Given the description of an element on the screen output the (x, y) to click on. 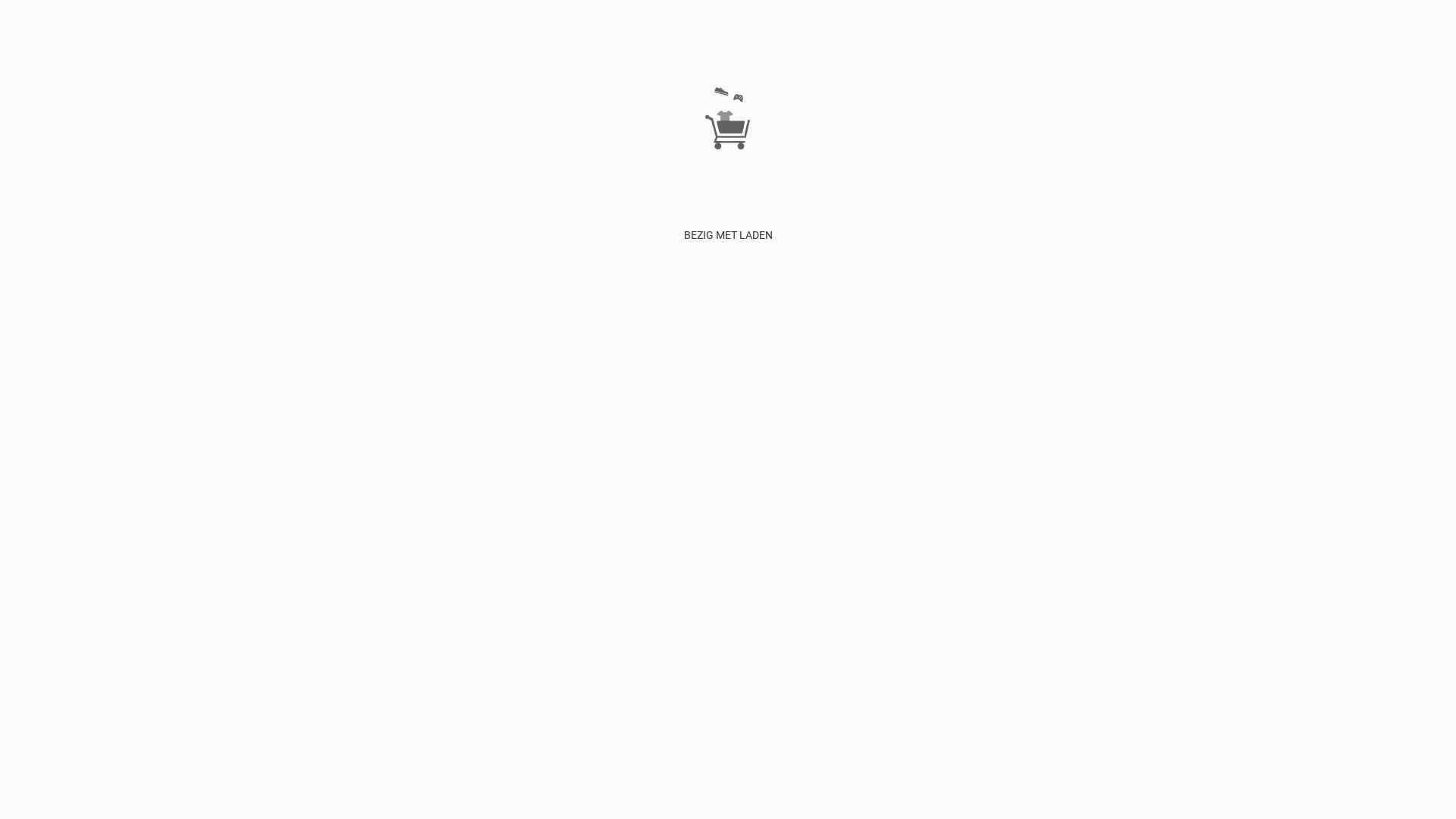
Jongens Element type: text (704, 42)
Dames Element type: text (598, 42)
Accessoires Element type: text (828, 42)
Details Element type: text (15, 443)
Bed&Bad Element type: text (776, 42)
Meisjes Element type: text (664, 42)
Retourformulier Element type: text (445, 443)
Details Element type: text (15, 297)
Disclaimer Element type: text (377, 42)
Baby Element type: text (740, 42)
Home Element type: text (260, 42)
Checkout Element type: text (557, 42)
Heren Element type: text (631, 42)
Over Element type: text (340, 42)
Verkennen Element type: text (301, 42)
Winkelmandje Element type: text (500, 42)
Mijn Account Element type: text (434, 42)
